Given the description of an element on the screen output the (x, y) to click on. 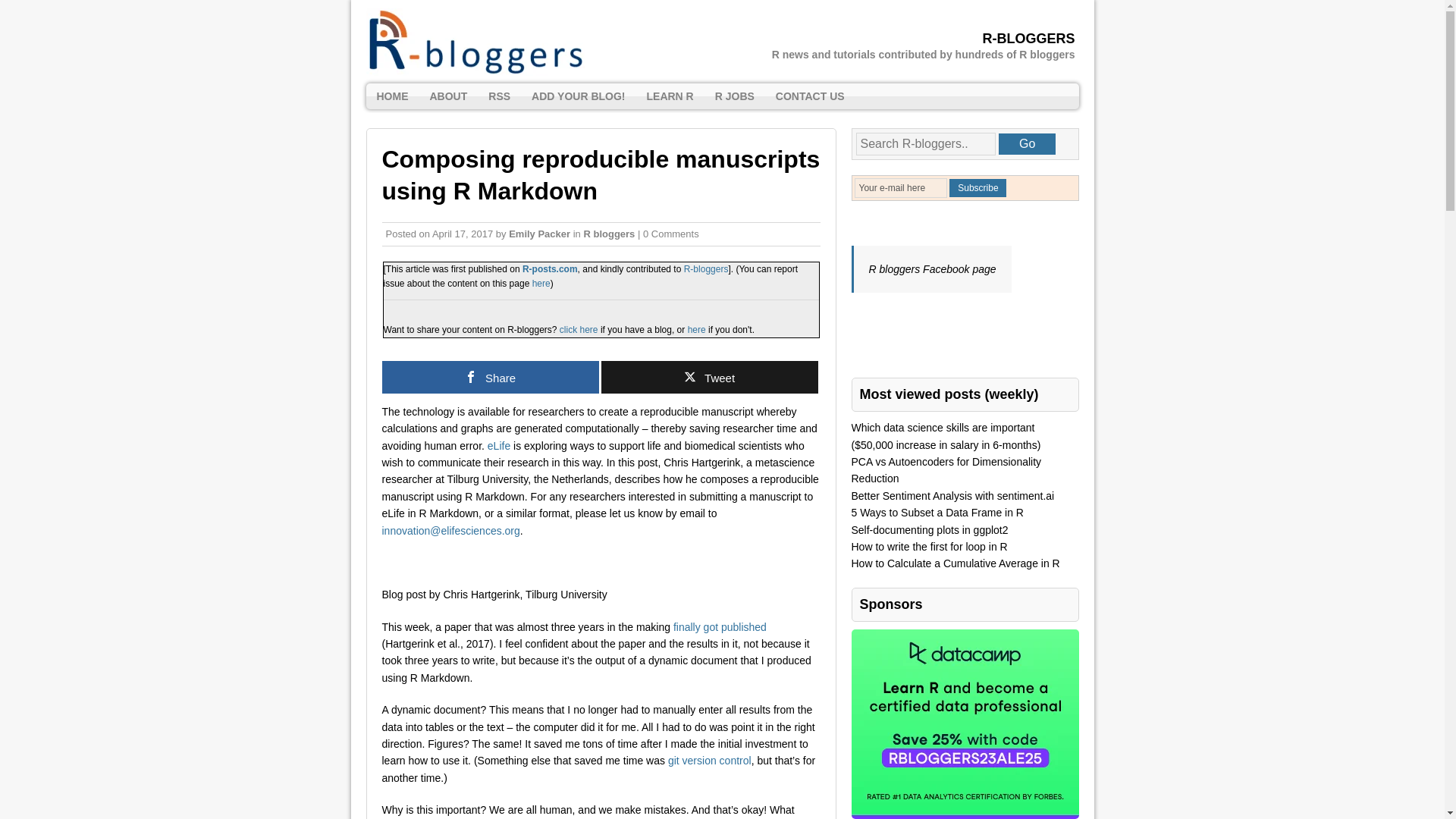
R JOBS (734, 95)
5 Ways to Subset a Data Frame in R (936, 512)
HOME (392, 95)
Share (489, 377)
R-bloggers (706, 268)
PCA vs Autoencoders for Dimensionality Reduction (945, 469)
Subscribe (977, 188)
R bloggers (608, 233)
ADD YOUR BLOG! (577, 95)
How to Calculate a Cumulative Average in R (954, 563)
here (541, 283)
Self-documenting plots in ggplot2 (928, 530)
LEARN R (668, 95)
finally got published (719, 626)
Tweet (707, 377)
